Given the description of an element on the screen output the (x, y) to click on. 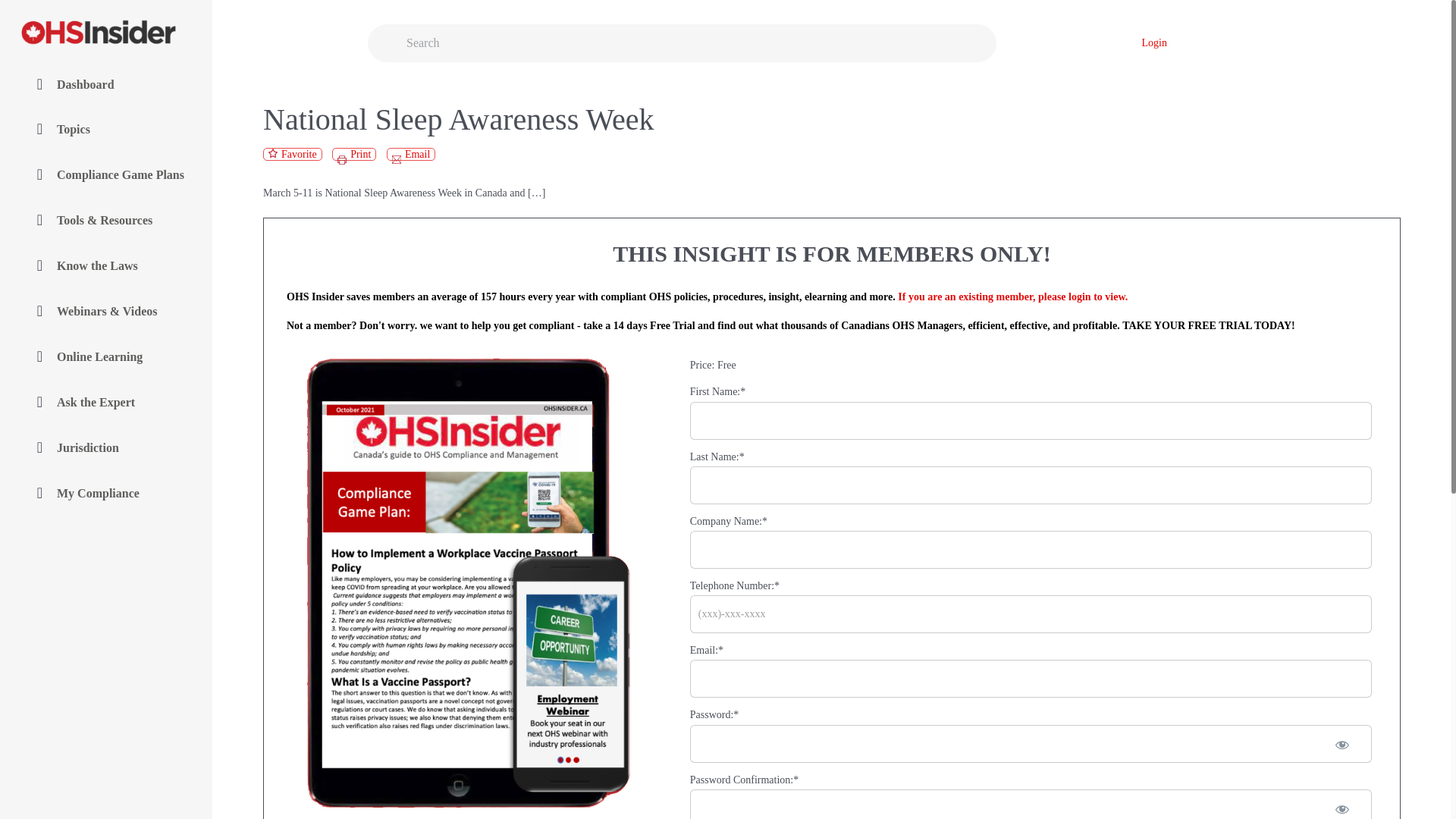
Jurisdiction (106, 448)
Share by Email (411, 154)
Ask the Expert (106, 402)
Know the Laws (106, 266)
Topics (106, 130)
My Compliance (106, 493)
Compliance Game Plans (106, 175)
Dashboard (106, 84)
Online Learning (106, 357)
Login (1154, 42)
